Given the description of an element on the screen output the (x, y) to click on. 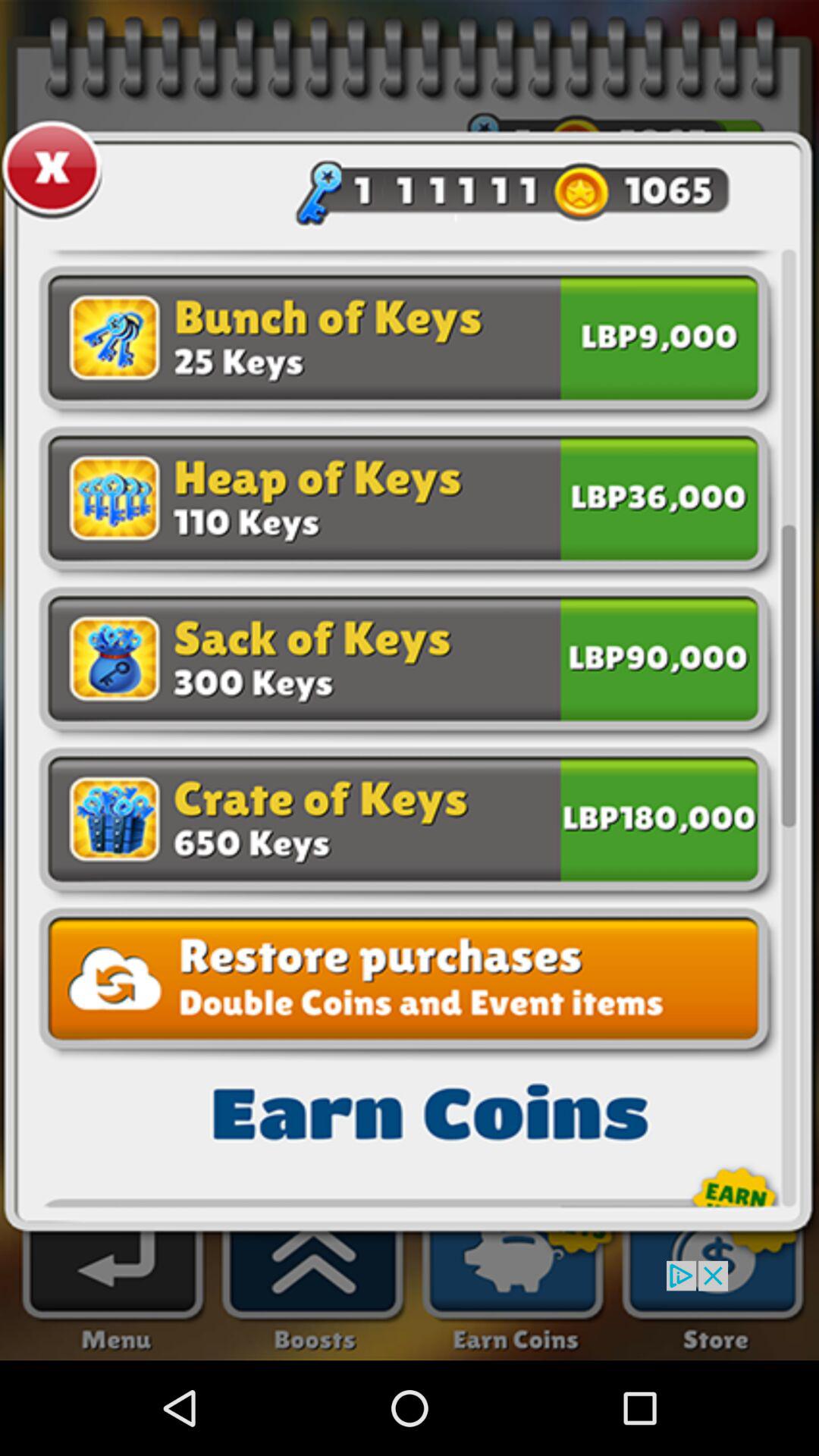
blank advertisement (409, 1310)
